Given the description of an element on the screen output the (x, y) to click on. 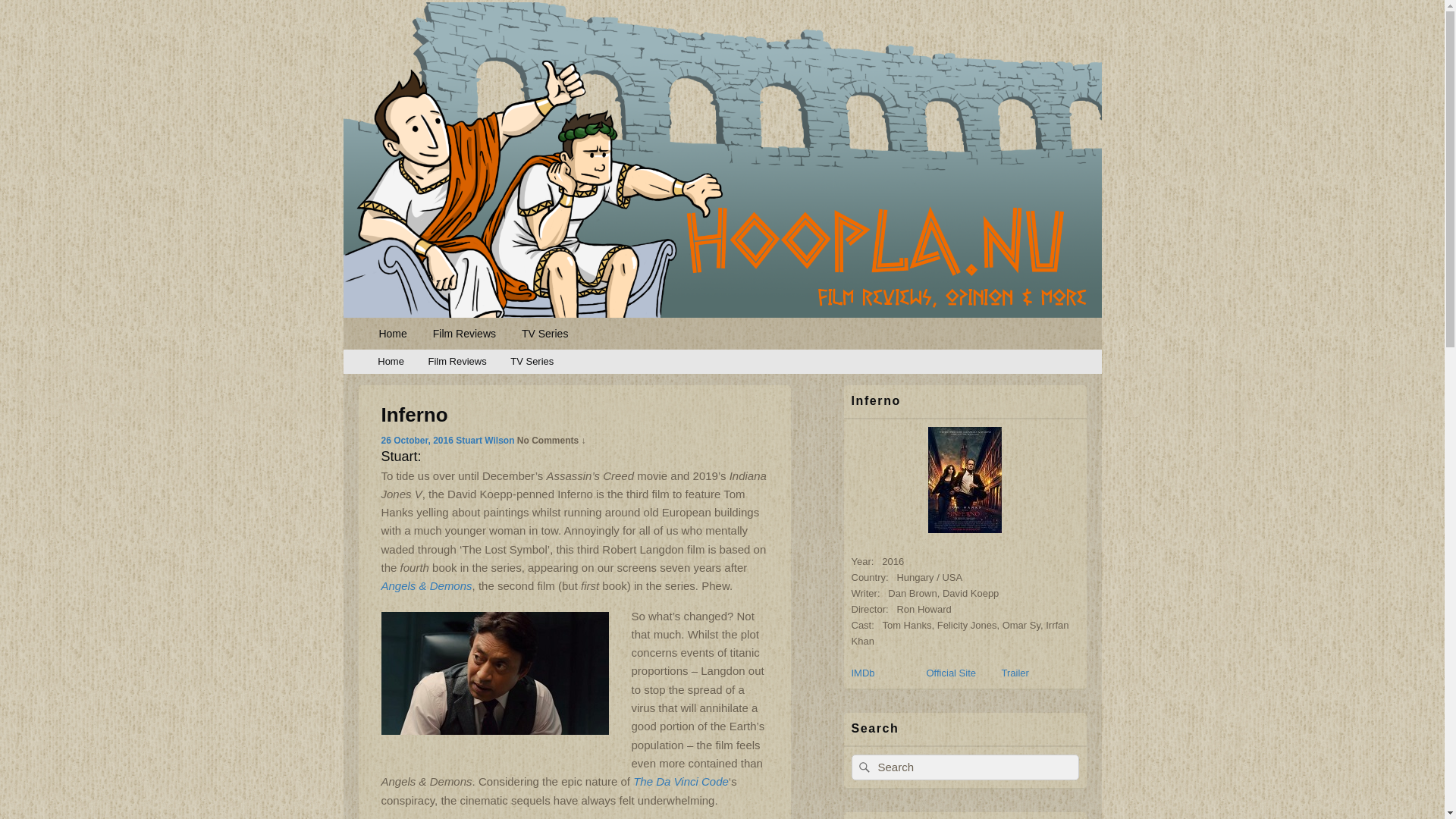
Stuart Wilson (484, 439)
26 October, 2016 (416, 439)
The Da Vinci Code (681, 780)
TV Series (531, 361)
Home (389, 361)
Film Reviews (457, 361)
View all posts by Stuart Wilson (484, 439)
hoopla.nu (407, 334)
